Given the description of an element on the screen output the (x, y) to click on. 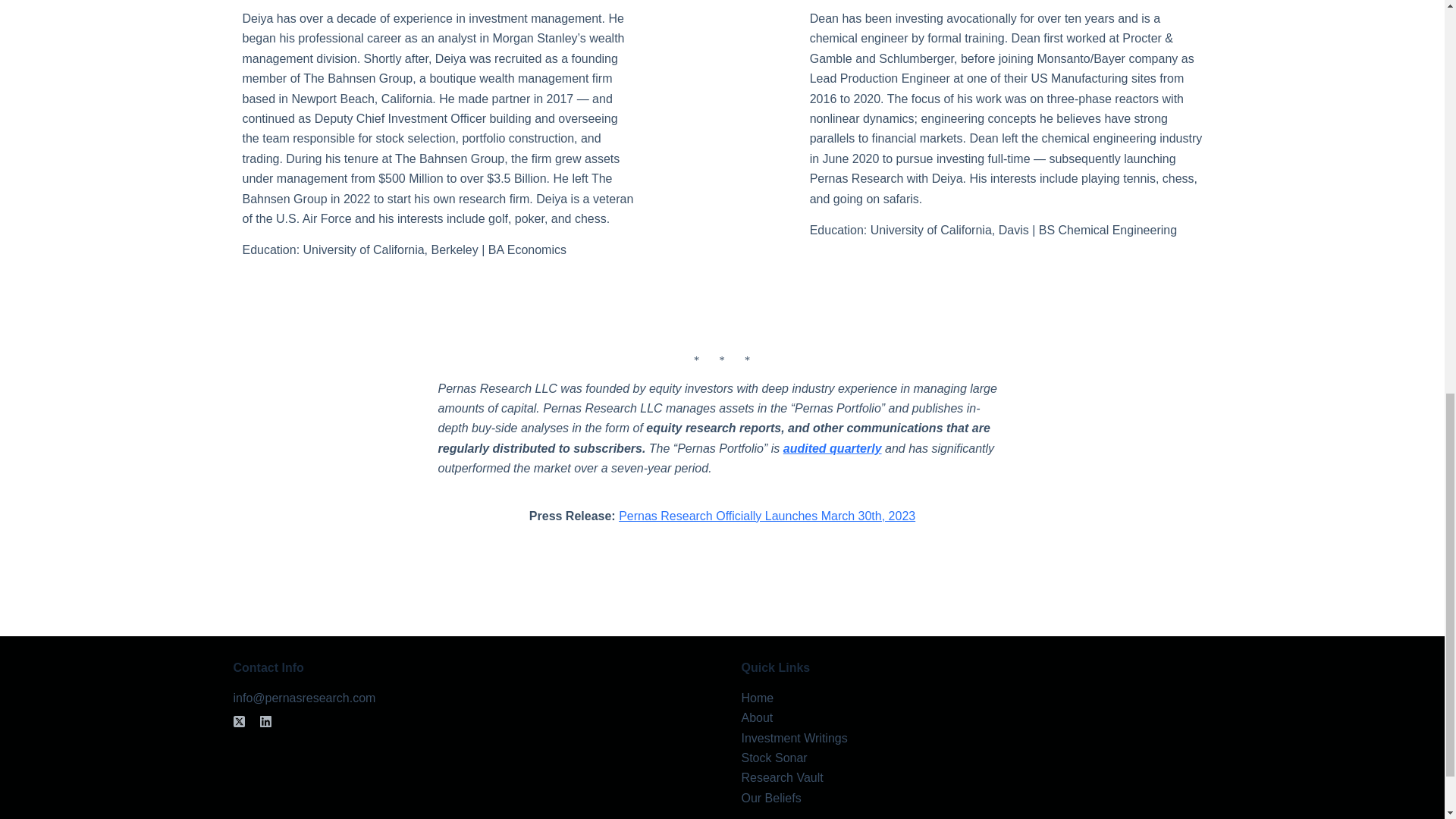
Research Vault (782, 777)
audited quarterly (832, 448)
Home (757, 697)
Investment Writings (794, 738)
Stock Sonar (774, 757)
Pernas Research Officially Launches March 30th, 2023 (766, 515)
Our Beliefs (771, 797)
About (757, 717)
